Given the description of an element on the screen output the (x, y) to click on. 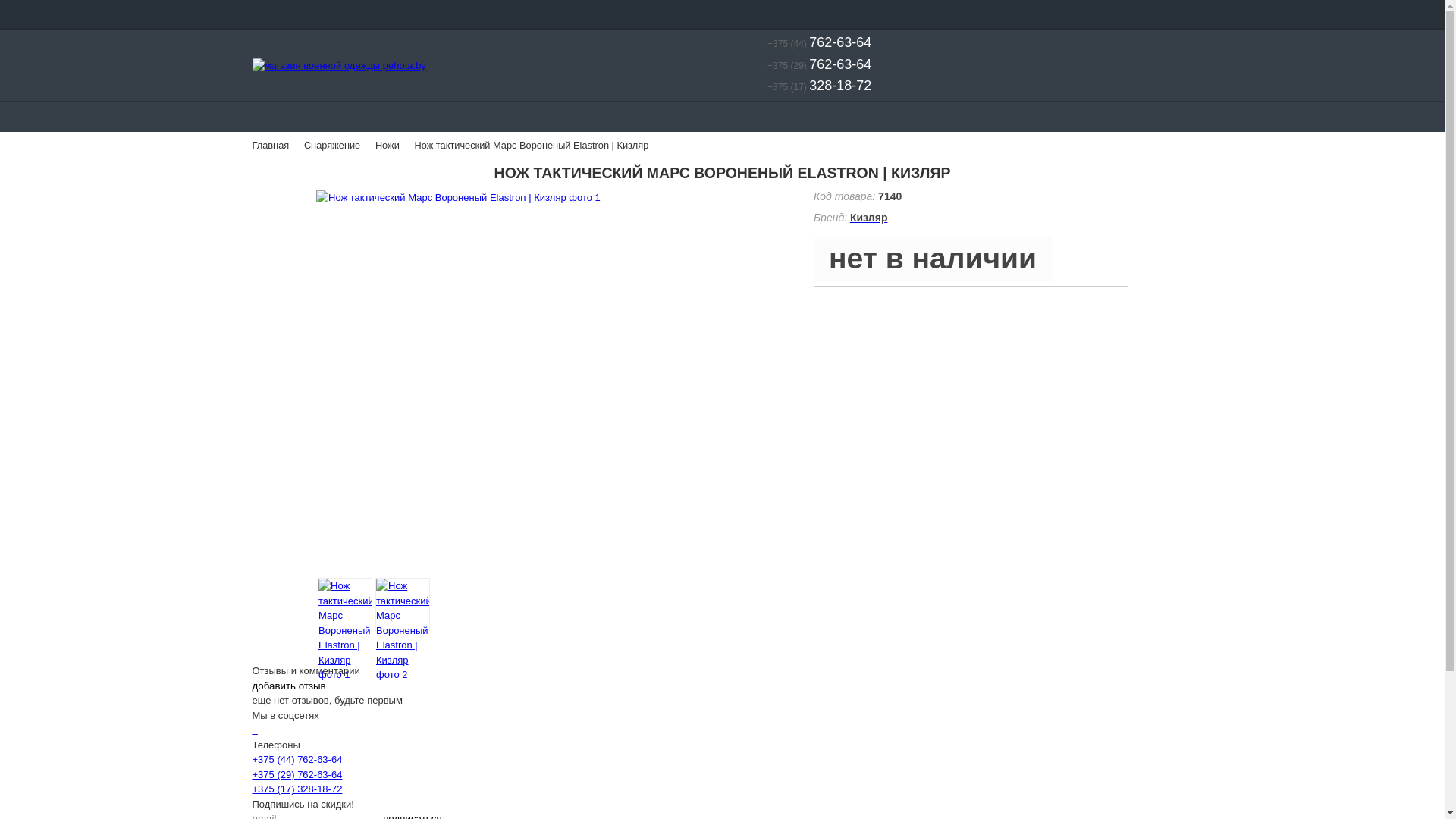
+375 (44) 762-63-64 Element type: text (296, 759)
+375 (17) 328-18-72 Element type: text (296, 788)
+375 (44) 762-63-64 Element type: text (808, 43)
+375 (17) 328-18-72 Element type: text (808, 86)
+375 (29) 762-63-64 Element type: text (296, 774)
+375 (29) 762-63-64 Element type: text (808, 65)
